Given the description of an element on the screen output the (x, y) to click on. 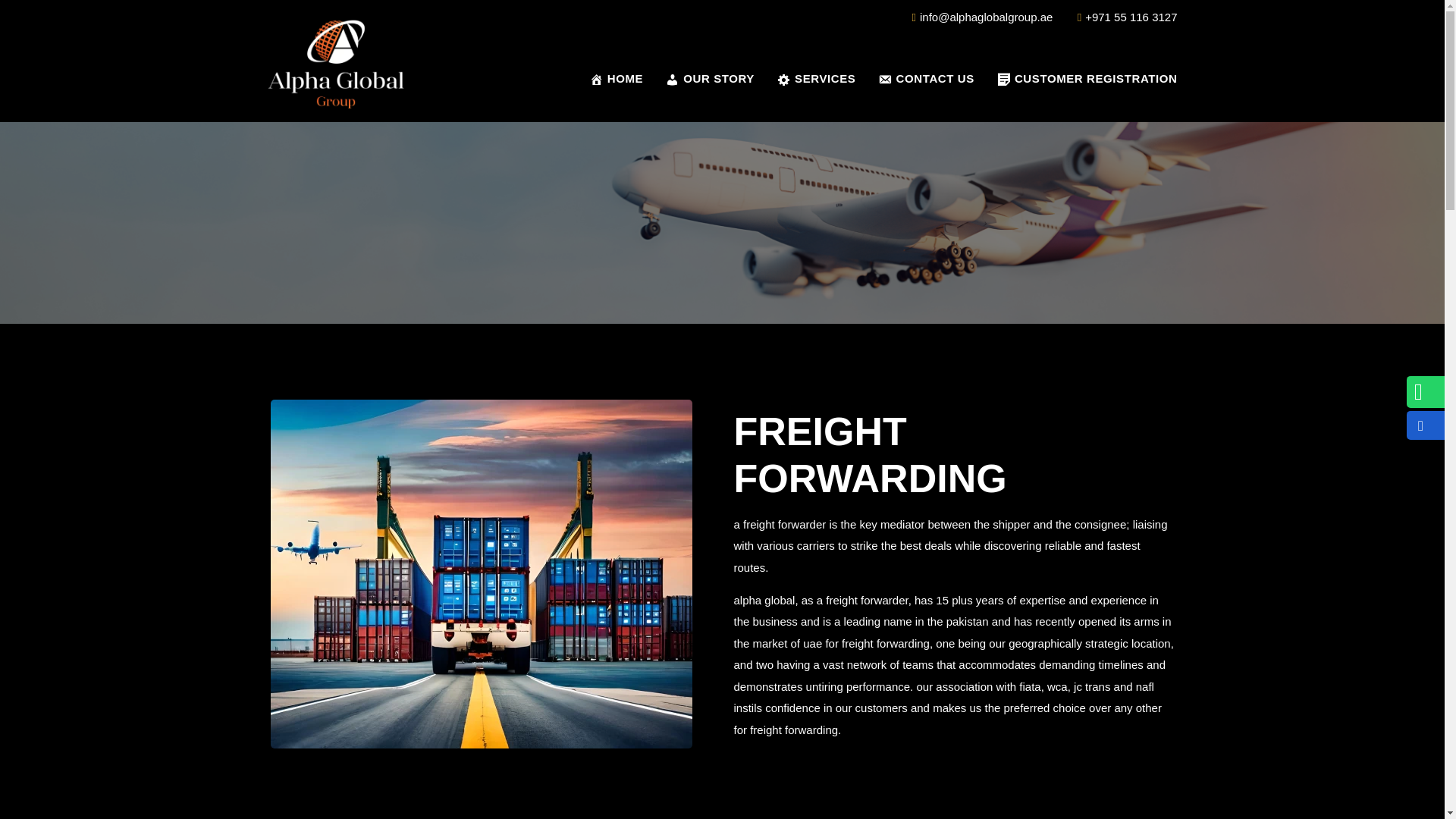
CONTACT US (925, 78)
OUR STORY (709, 78)
HOME (616, 78)
SERVICES (816, 78)
CUSTOMER REGISTRATION (1087, 78)
